Given the description of an element on the screen output the (x, y) to click on. 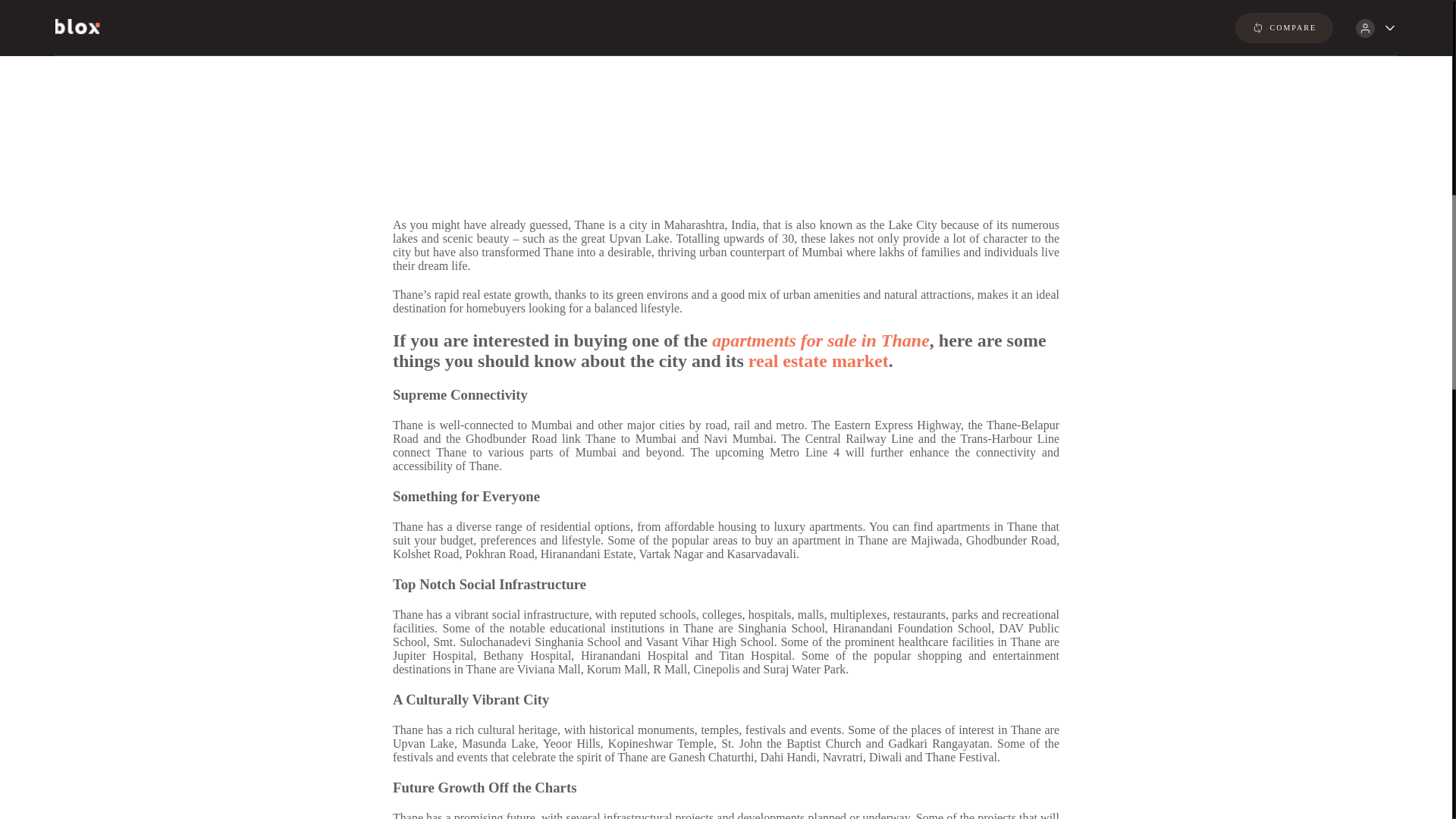
apartments for sale in Thane (820, 340)
real estate market (818, 361)
